Given the description of an element on the screen output the (x, y) to click on. 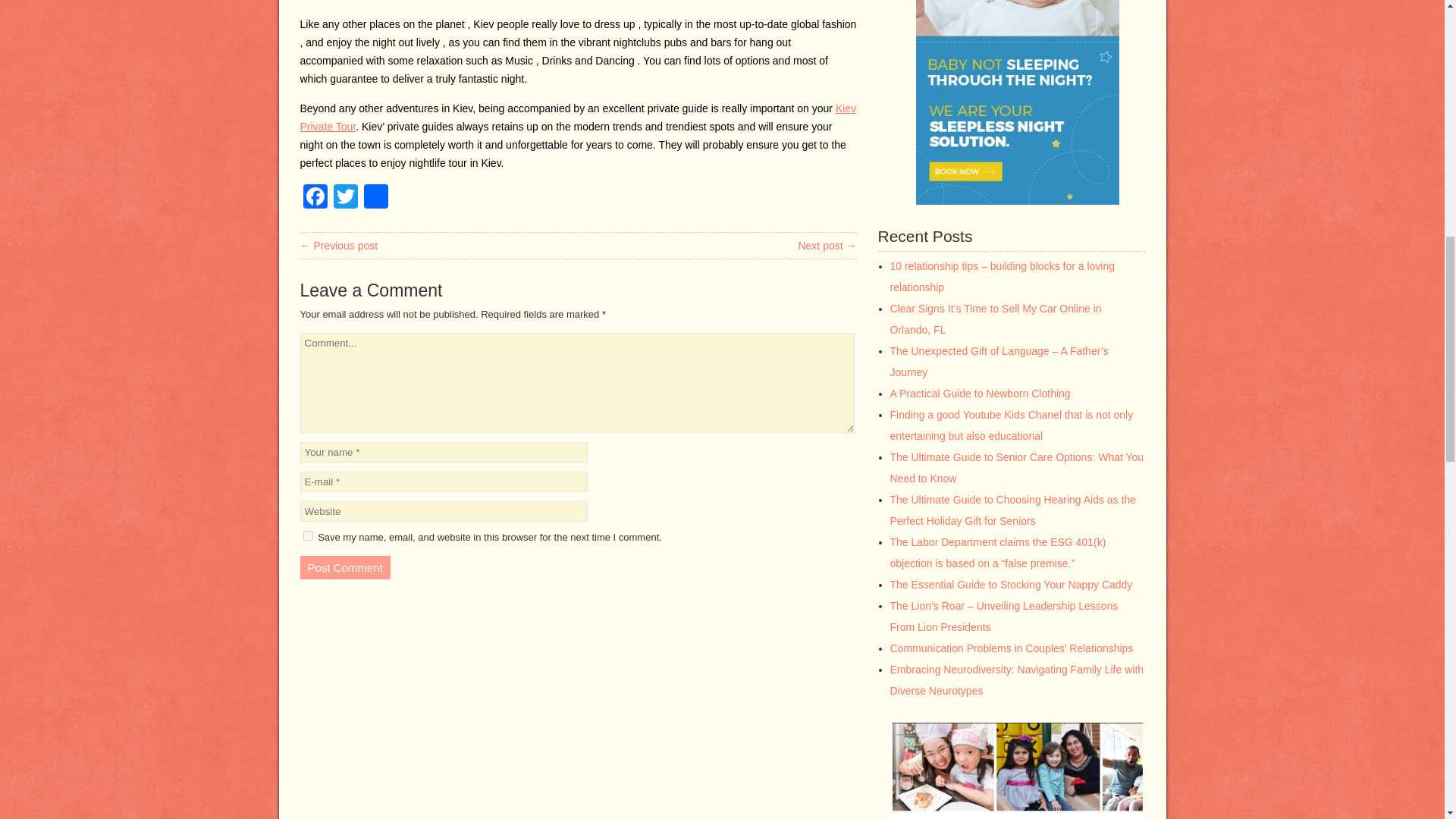
Post Comment (344, 567)
The Essential Guide to Stocking Your Nappy Caddy (1010, 584)
Twitter (345, 198)
Facebook (314, 198)
A Practical Guide to Newborn Clothing (979, 393)
yes (307, 535)
Kiev Private Tour (578, 117)
Post Comment (344, 567)
Twitter (345, 198)
Facebook (314, 198)
Taking a canoe trip in River Thames (826, 245)
Swiss Day Tours with your private guide (338, 245)
